Given the description of an element on the screen output the (x, y) to click on. 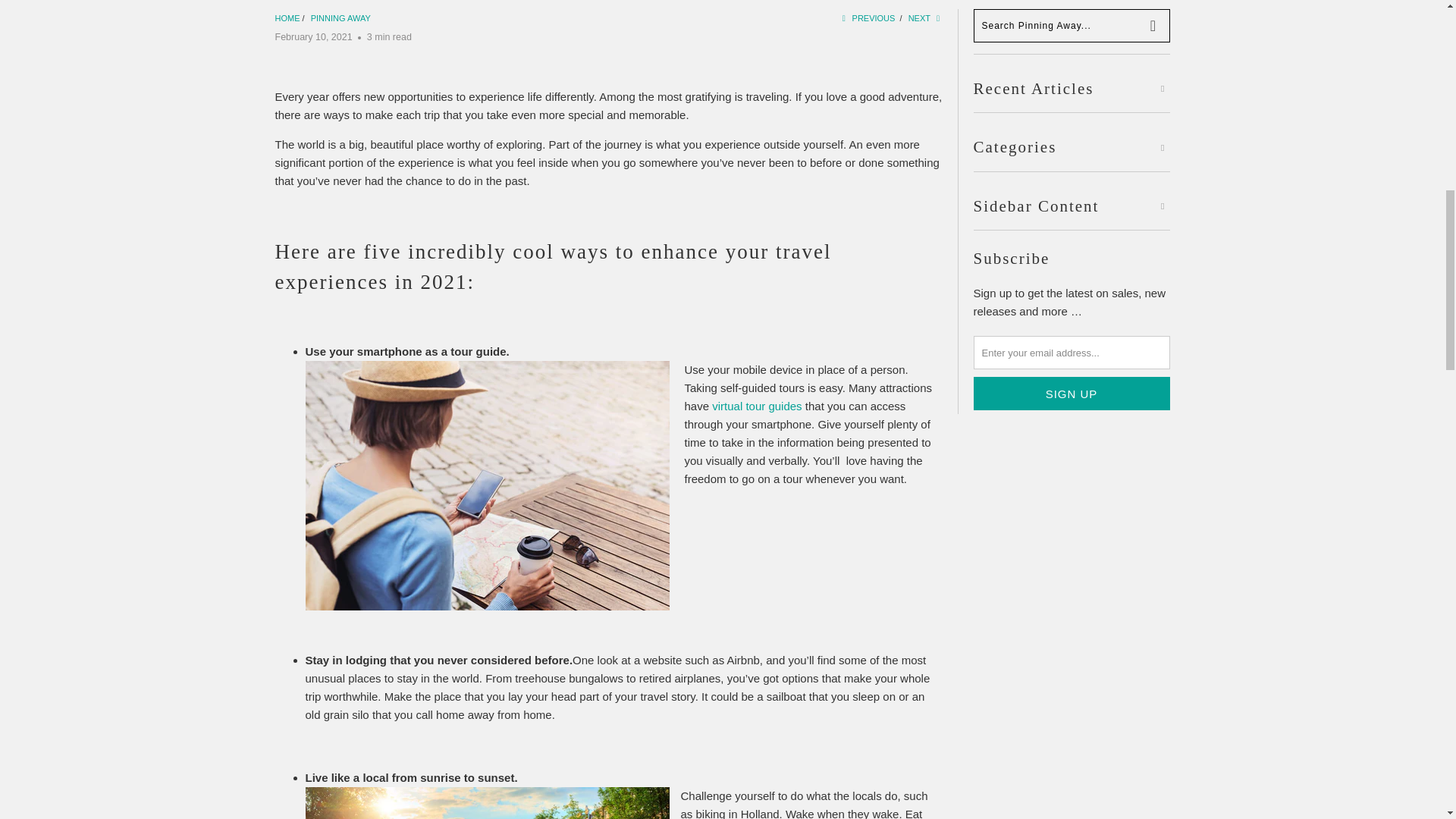
Sign Up (1072, 393)
Pinning Away (341, 17)
Push Pin Travel Maps (287, 17)
Virtual Museum Tours (756, 405)
